Given the description of an element on the screen output the (x, y) to click on. 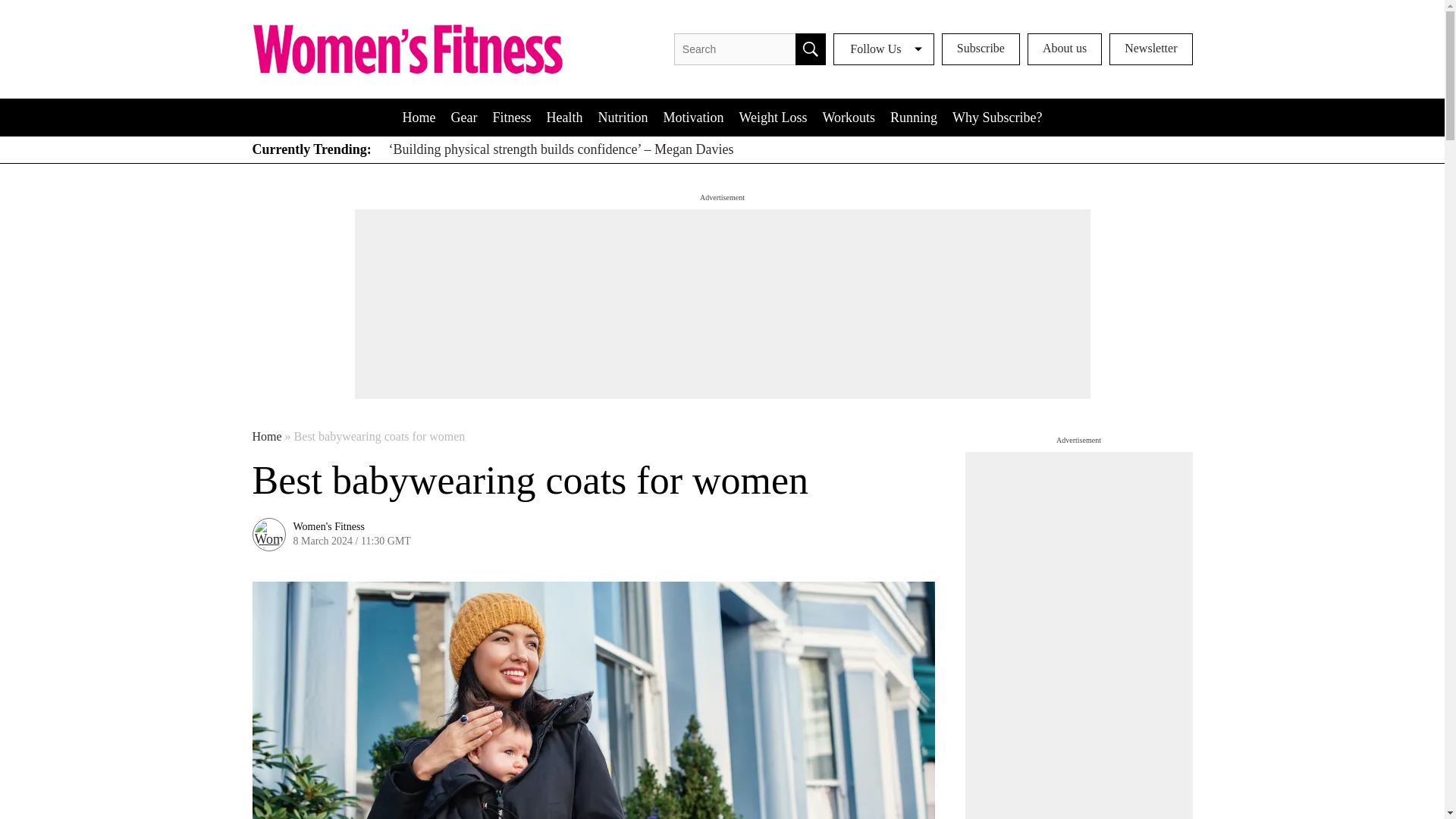
Follow Us (883, 49)
Home (418, 117)
Why Subscribe? (996, 117)
Running (913, 117)
Search (809, 49)
Weight Loss (771, 117)
Subscribe (981, 49)
Workouts (847, 117)
Fitness (511, 117)
Gear (463, 117)
About us (1064, 49)
Newsletter (1150, 49)
Nutrition (622, 117)
Health (563, 117)
Women's Fitness (328, 526)
